Given the description of an element on the screen output the (x, y) to click on. 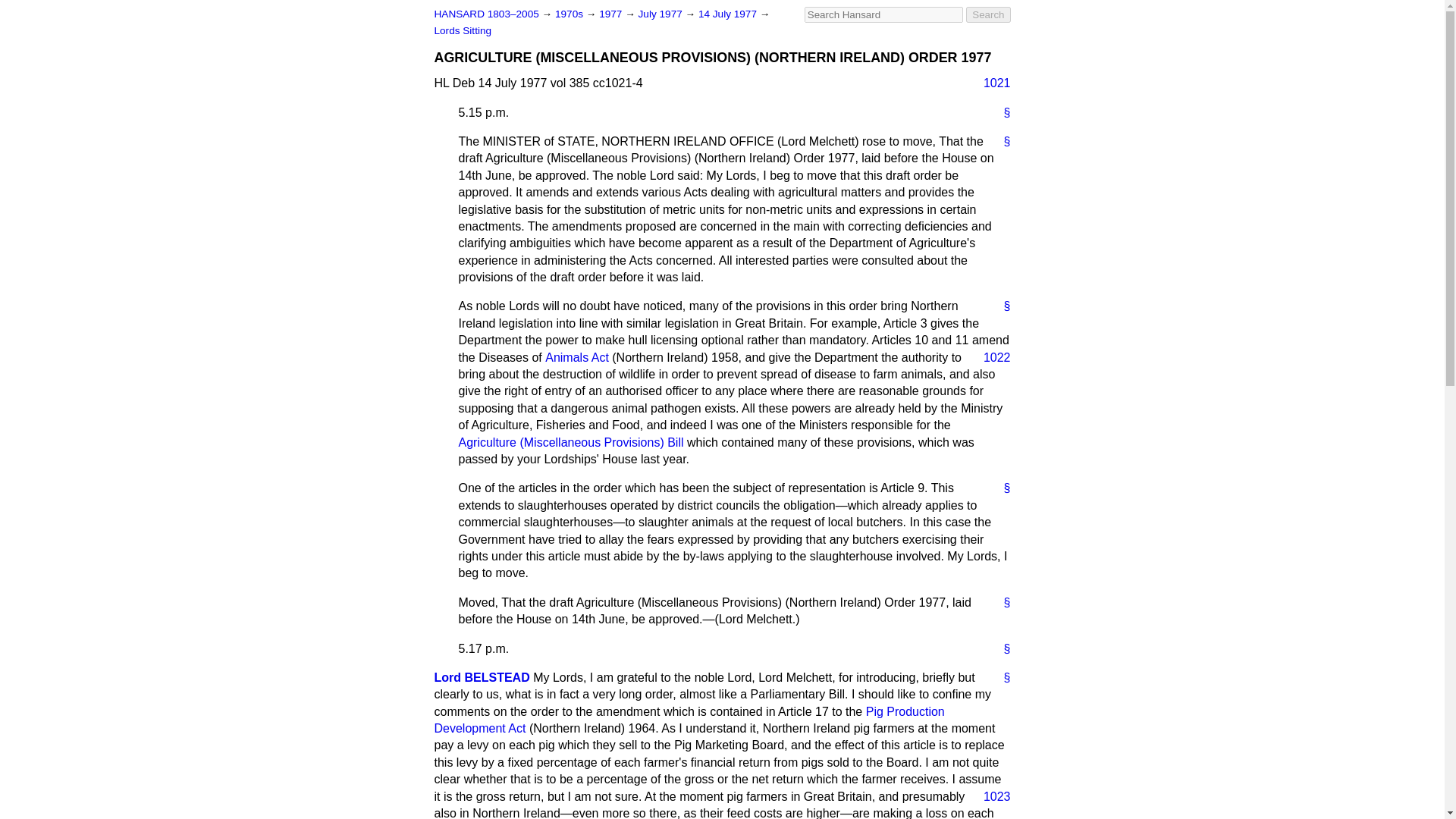
Lords Sitting (462, 30)
1977 (611, 13)
Link to this speech by Mr John Ganzoni (1000, 677)
Search (988, 14)
1021 (990, 83)
Mr John Ganzoni (481, 676)
Pig Production Development Act (688, 719)
Lord BELSTEAD (481, 676)
Link to this contribution (1000, 602)
Link to this contribution (1000, 647)
